Given the description of an element on the screen output the (x, y) to click on. 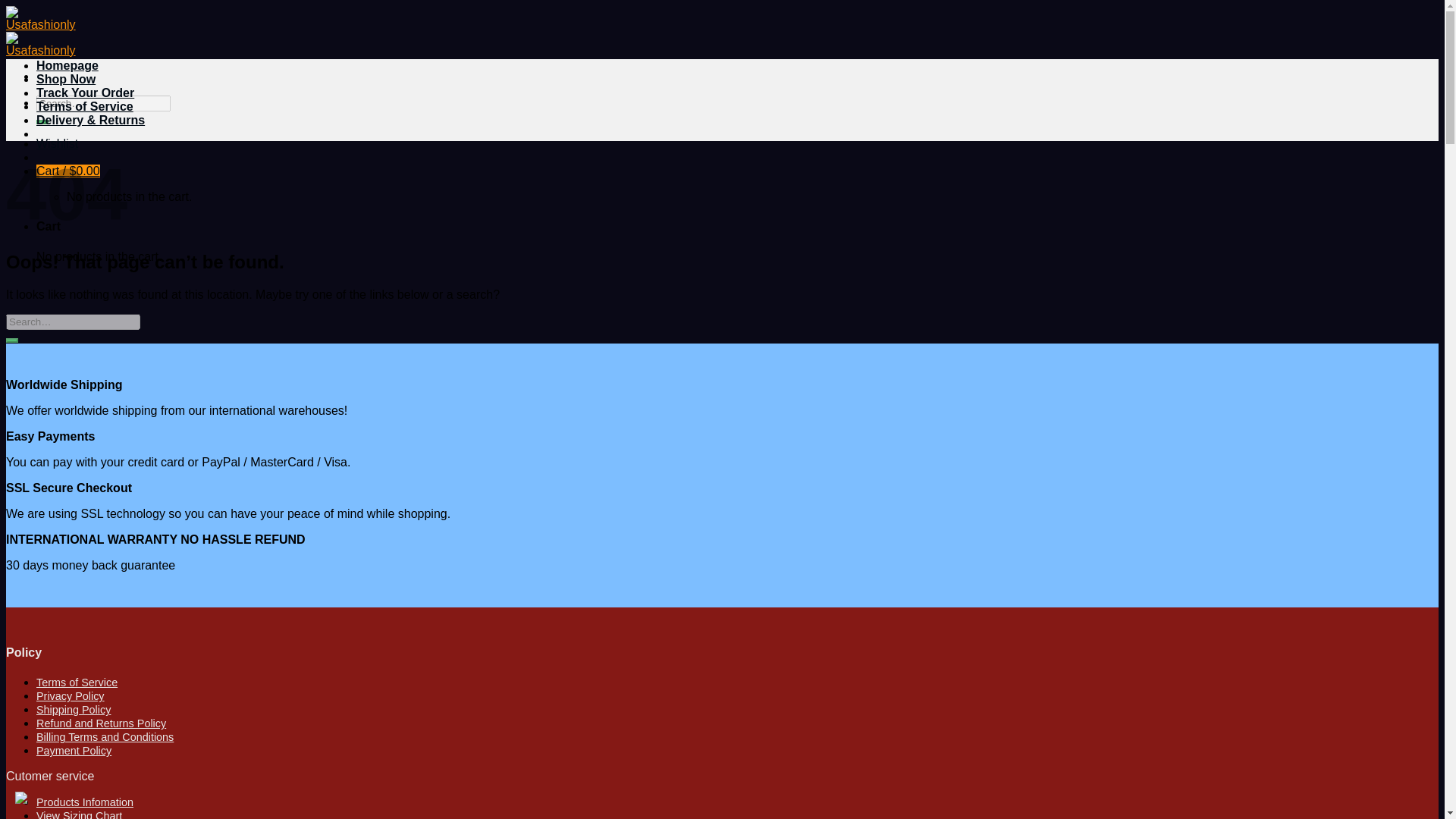
Privacy Policy (70, 695)
Homepage (67, 65)
Search (42, 121)
Usafashionly - Online Fashion store (40, 37)
Billing Terms and Conditions (104, 736)
View Sizing Chart (79, 814)
Terms of Service (84, 106)
Wishlist (57, 143)
Cart (68, 170)
Shop Now (66, 78)
